Given the description of an element on the screen output the (x, y) to click on. 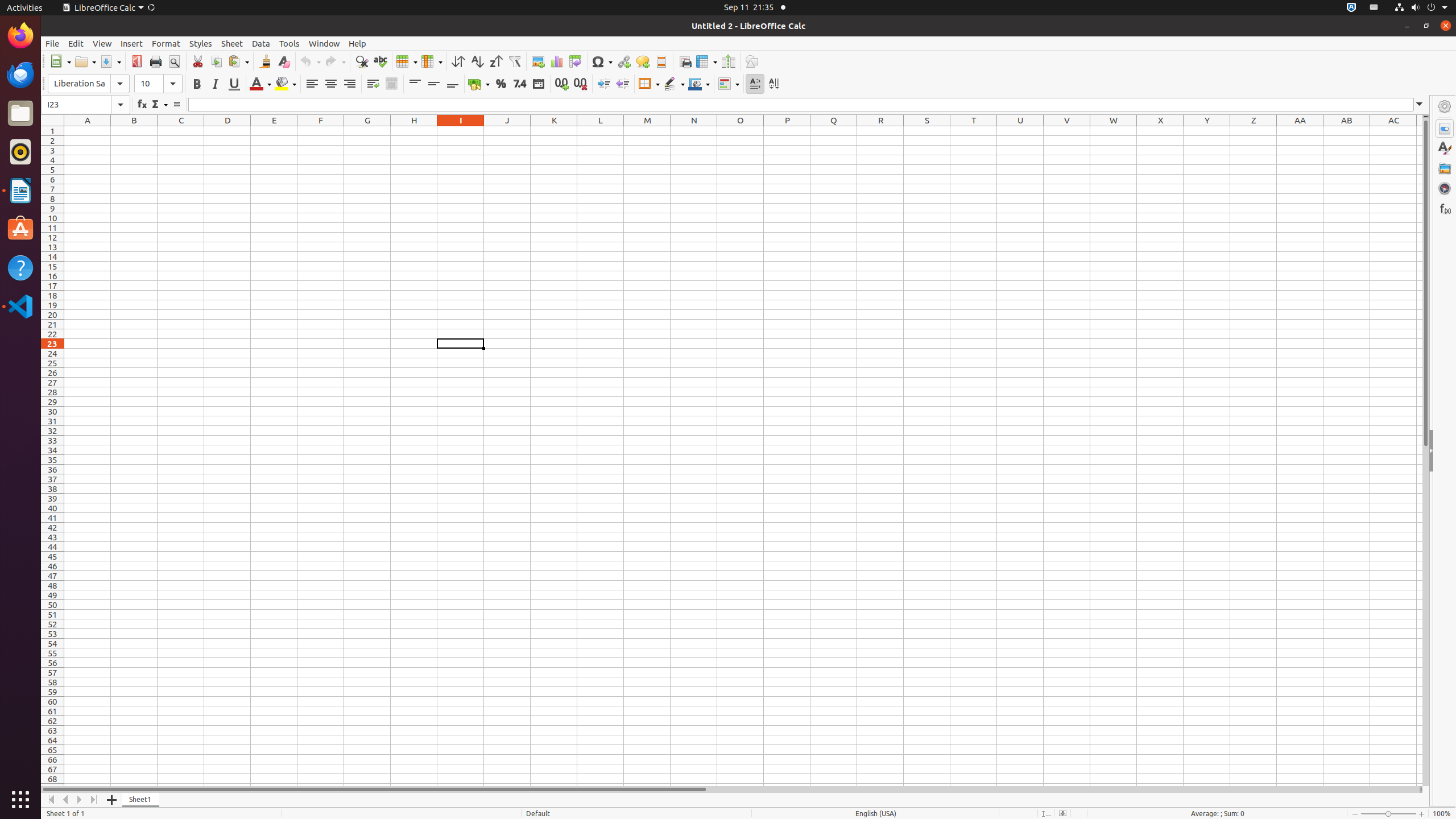
H1 Element type: table-cell (413, 130)
Name Box Element type: combo-box (85, 104)
Merge and Center Cells Element type: push-button (391, 83)
Print Preview Element type: toggle-button (173, 61)
